Given the description of an element on the screen output the (x, y) to click on. 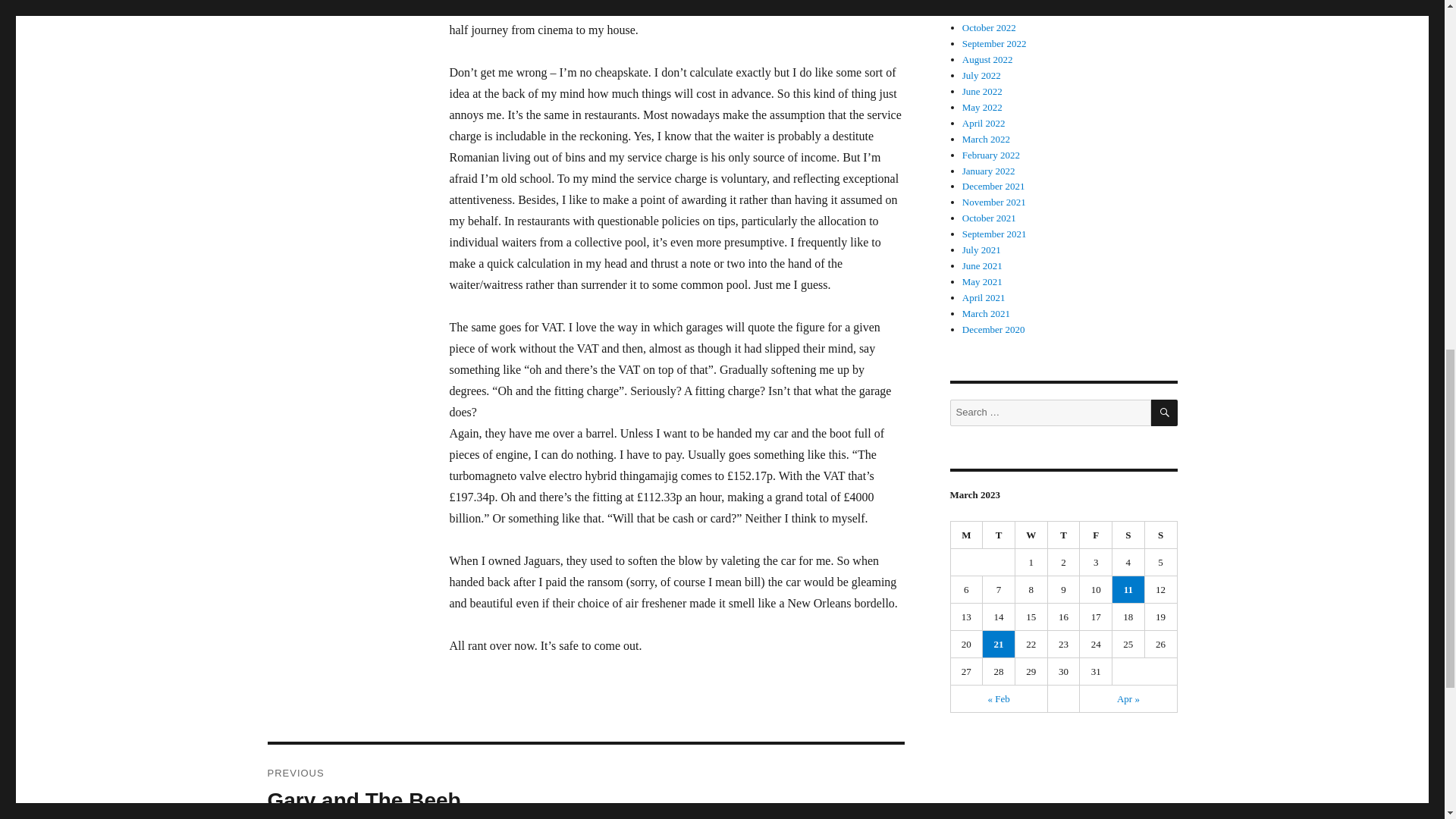
Friday (1096, 534)
Sunday (1160, 534)
Thursday (1064, 534)
Tuesday (998, 534)
Saturday (1128, 534)
Monday (967, 534)
Wednesday (1031, 534)
